Given the description of an element on the screen output the (x, y) to click on. 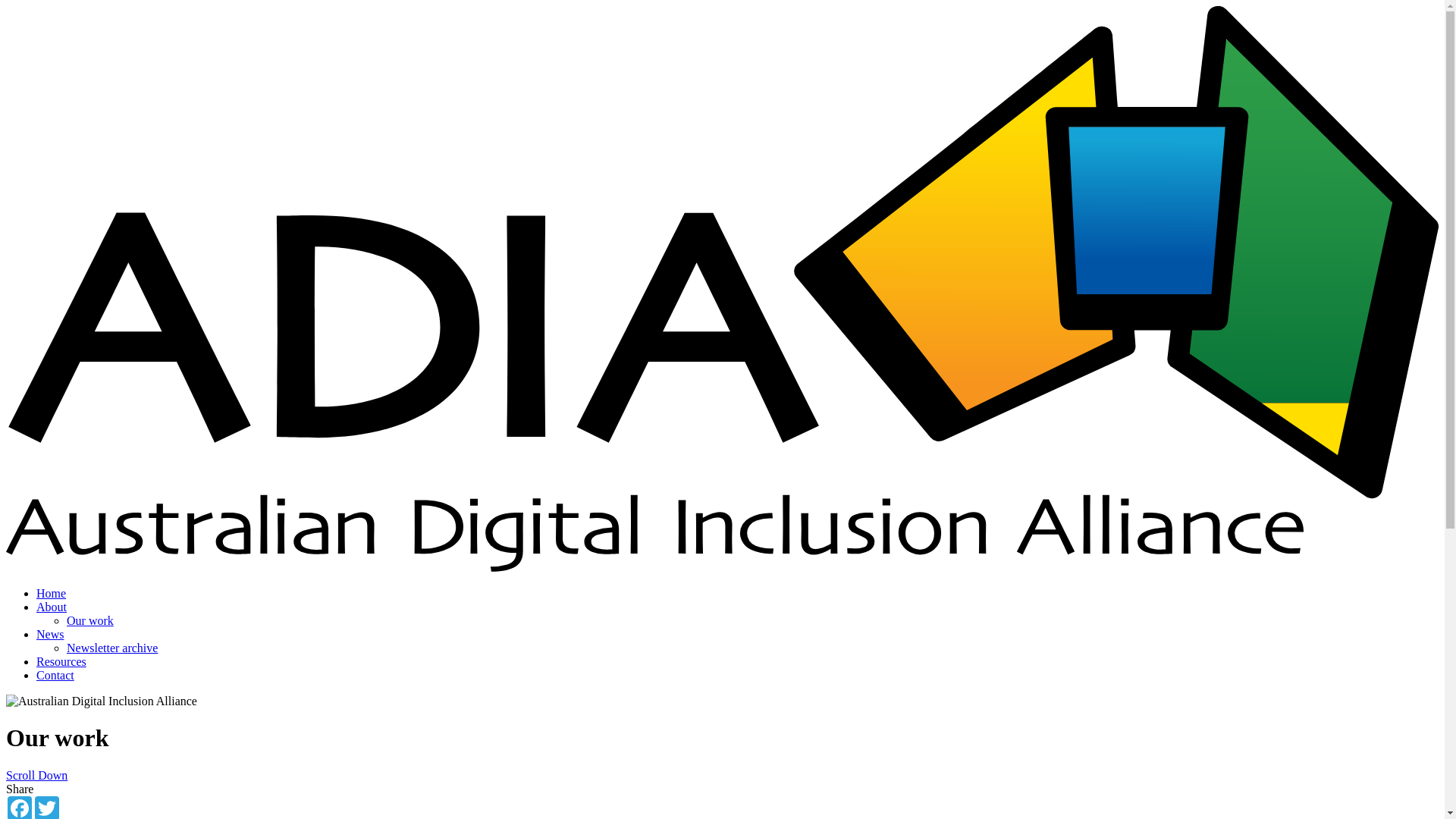
Scroll Down Element type: text (36, 774)
Newsletter archive Element type: text (111, 647)
About Element type: text (51, 606)
Home Element type: text (50, 592)
Resources Element type: text (61, 661)
News Element type: text (49, 633)
Our work Element type: text (89, 620)
Contact Element type: text (55, 674)
